Given the description of an element on the screen output the (x, y) to click on. 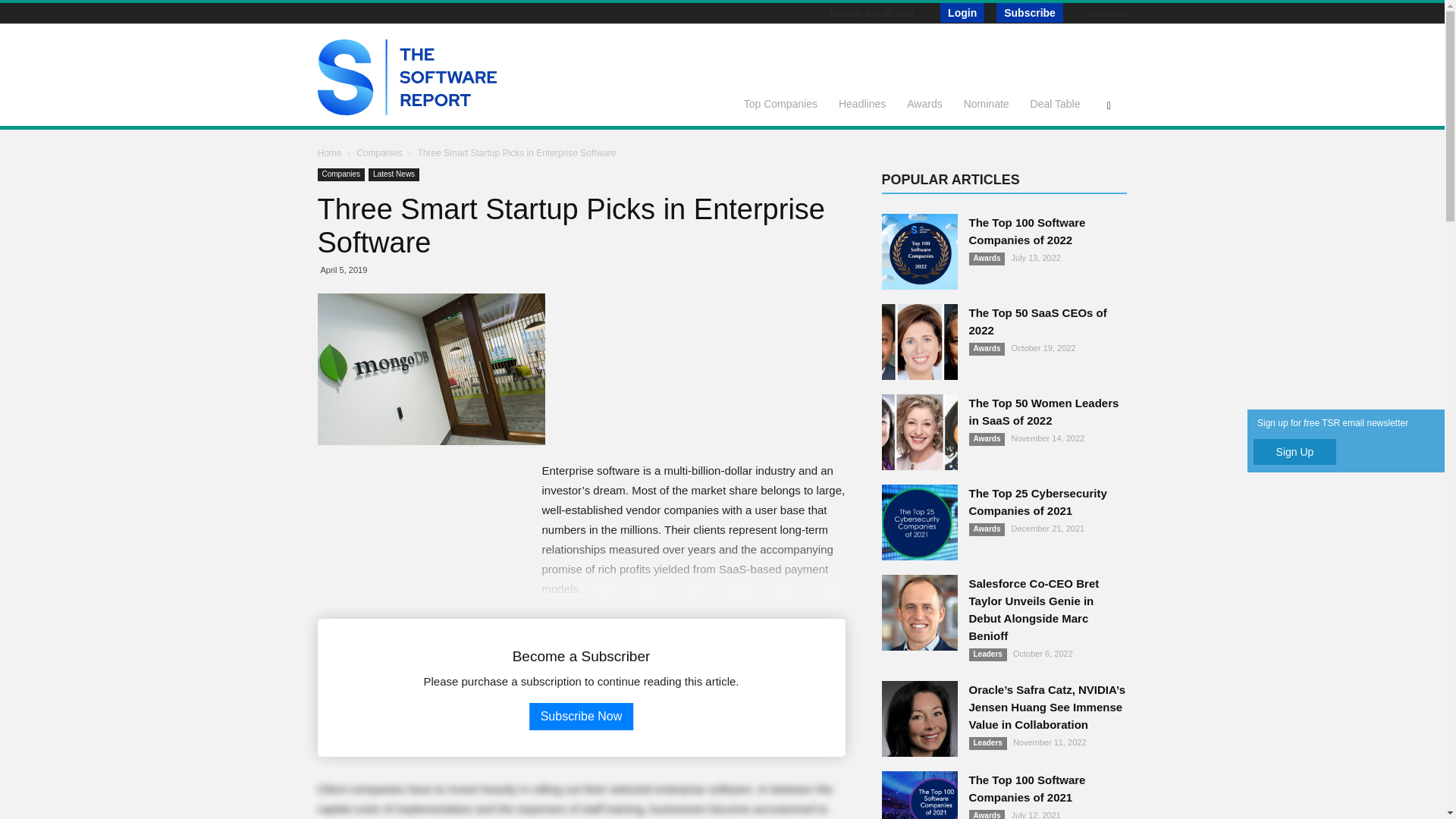
The Software Report (406, 111)
Deal Table (1055, 103)
Home (328, 153)
Top Companies (780, 103)
Latest News (393, 174)
Headlines (862, 103)
View all posts in Companies (380, 153)
Companies (380, 153)
Login (962, 12)
Sign Up (1294, 451)
Contact us (1106, 13)
Subscribe Now (581, 716)
mongodb (430, 369)
Companies (341, 174)
Awards (924, 103)
